Given the description of an element on the screen output the (x, y) to click on. 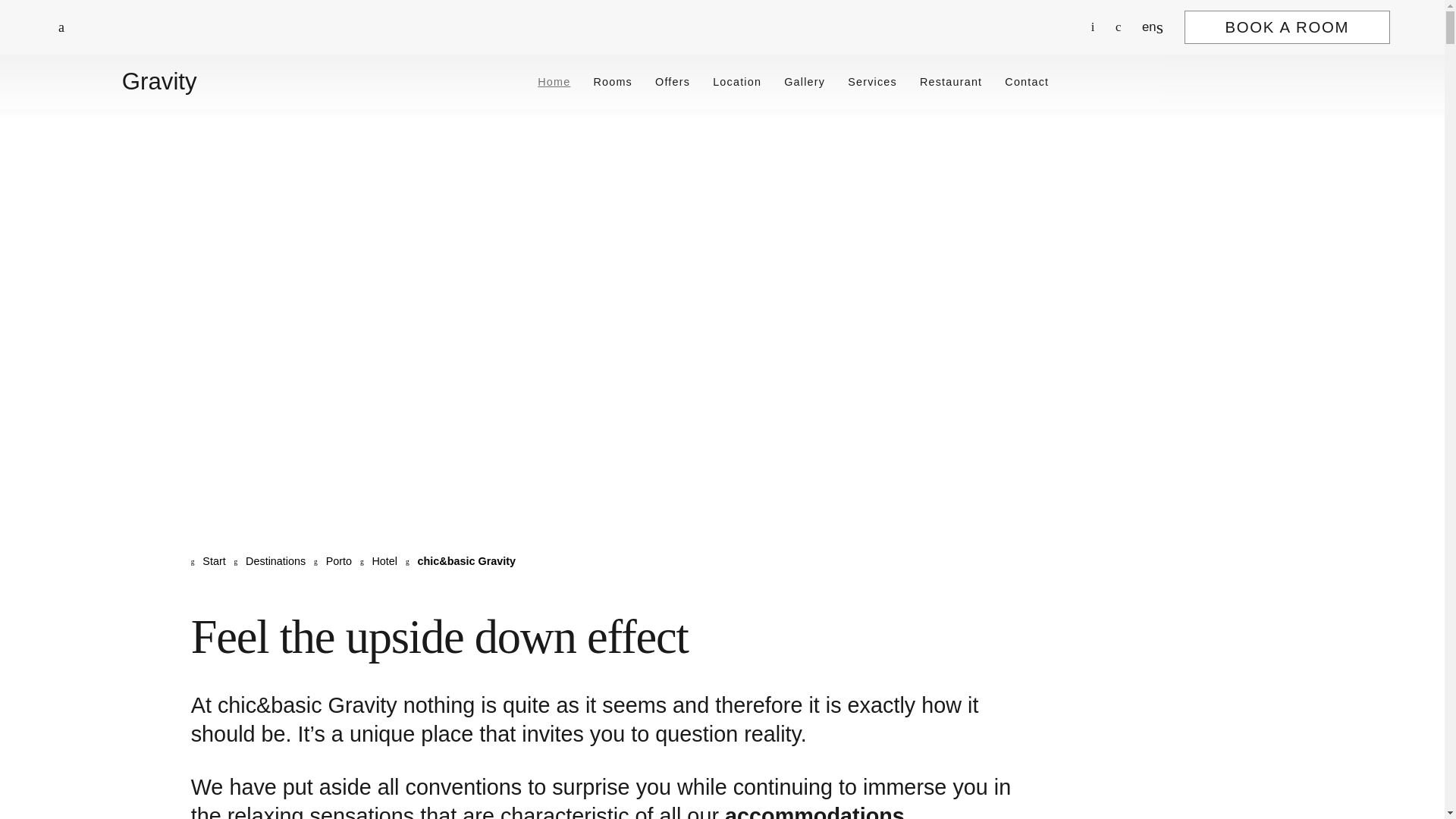
Restaurant (950, 81)
Gallery (804, 81)
Gallery (804, 81)
Rooms (611, 81)
Home (553, 81)
Services (871, 81)
Location (737, 81)
Offers (672, 81)
Home (553, 81)
Contact (1026, 81)
